Given the description of an element on the screen output the (x, y) to click on. 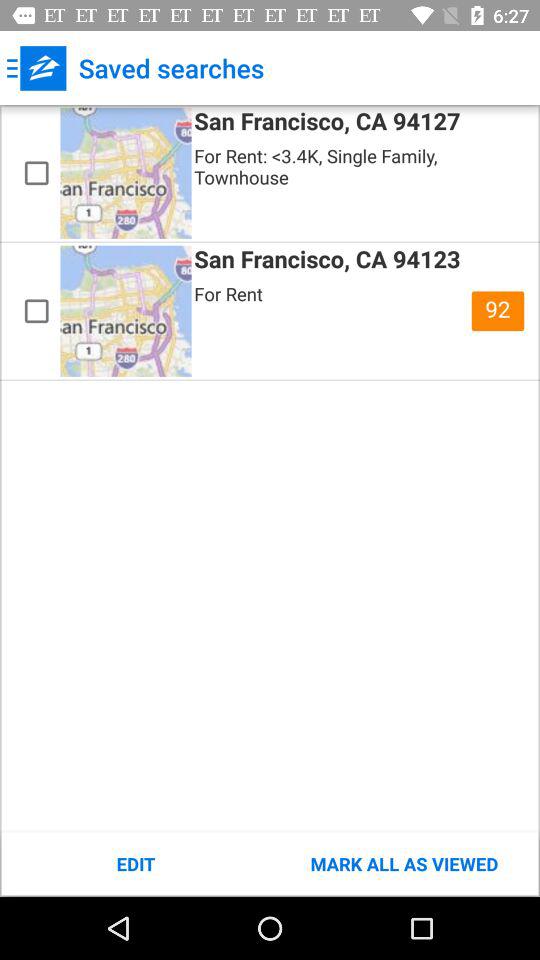
launch the icon above mark all as icon (497, 311)
